Given the description of an element on the screen output the (x, y) to click on. 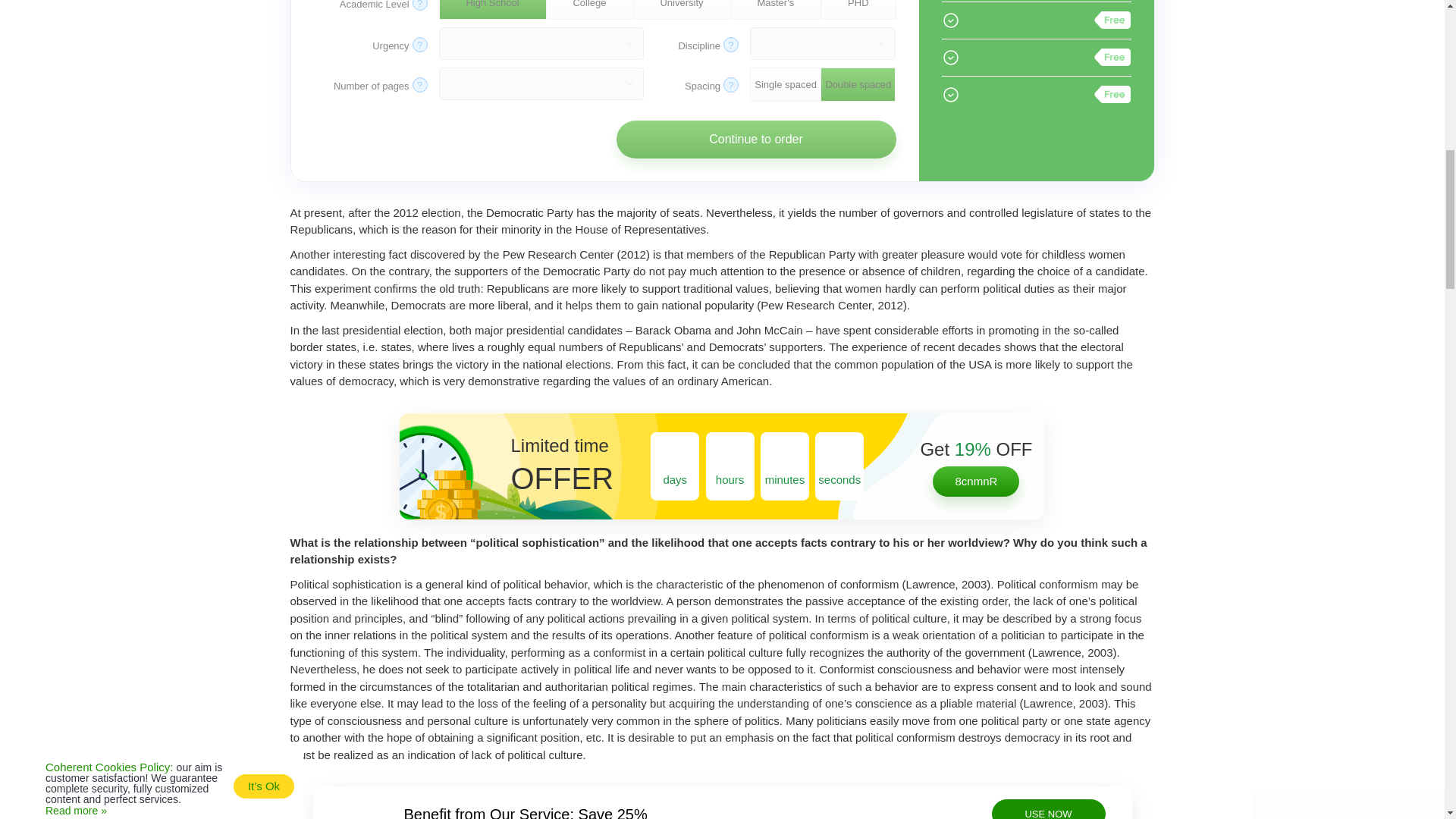
Continue to order (755, 139)
USE NOW (1048, 809)
